Given the description of an element on the screen output the (x, y) to click on. 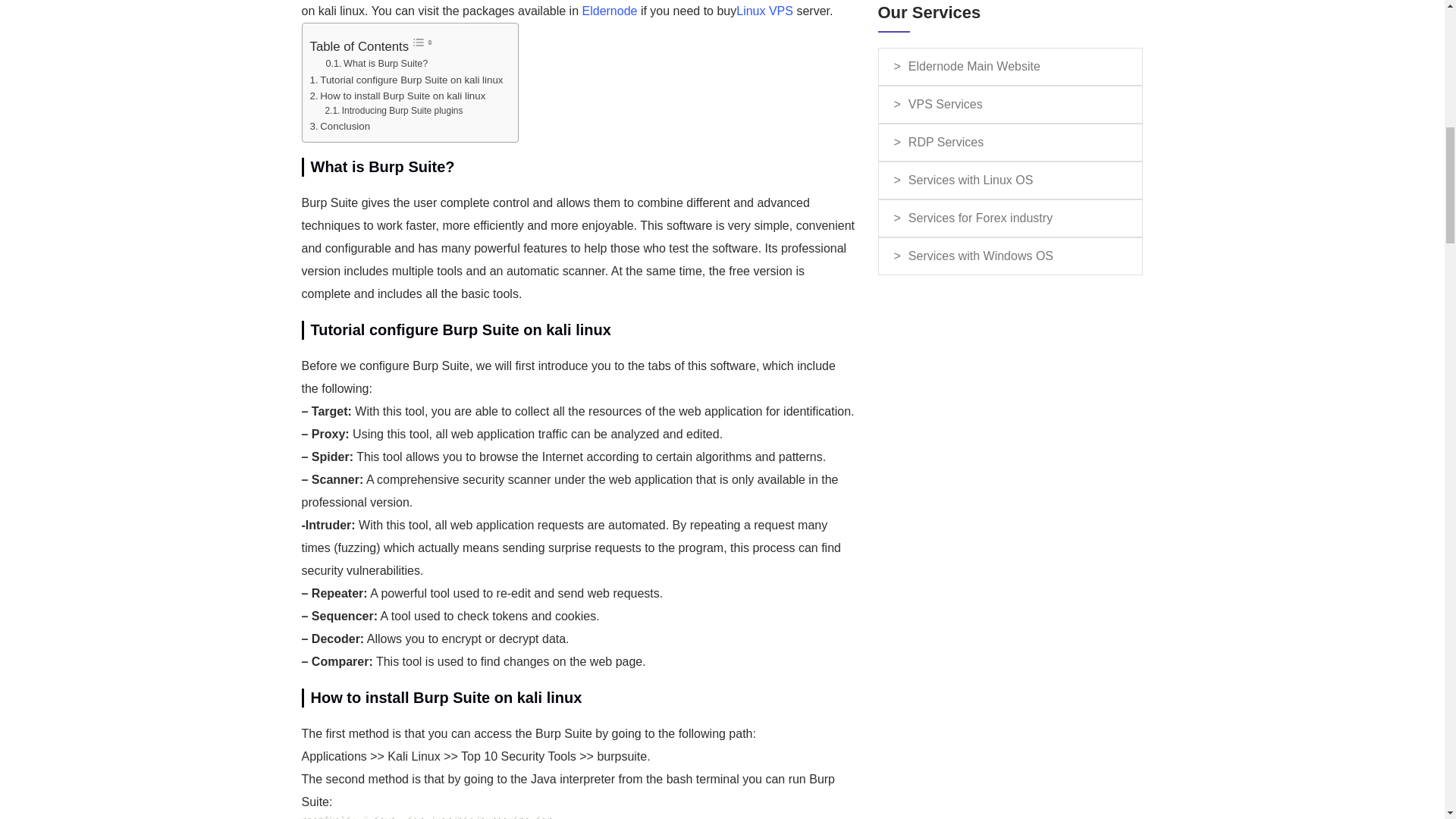
What is Burp Suite? (377, 63)
Tutorial configure Burp Suite on kali linux (405, 79)
How to install Burp Suite on kali linux (396, 95)
Introducing Burp Suite plugins (393, 110)
Conclusion (338, 125)
Linux VPS (764, 11)
Conclusion (338, 125)
Introducing Burp Suite plugins (393, 110)
What is Burp Suite? (377, 63)
Eldernode (609, 11)
